Given the description of an element on the screen output the (x, y) to click on. 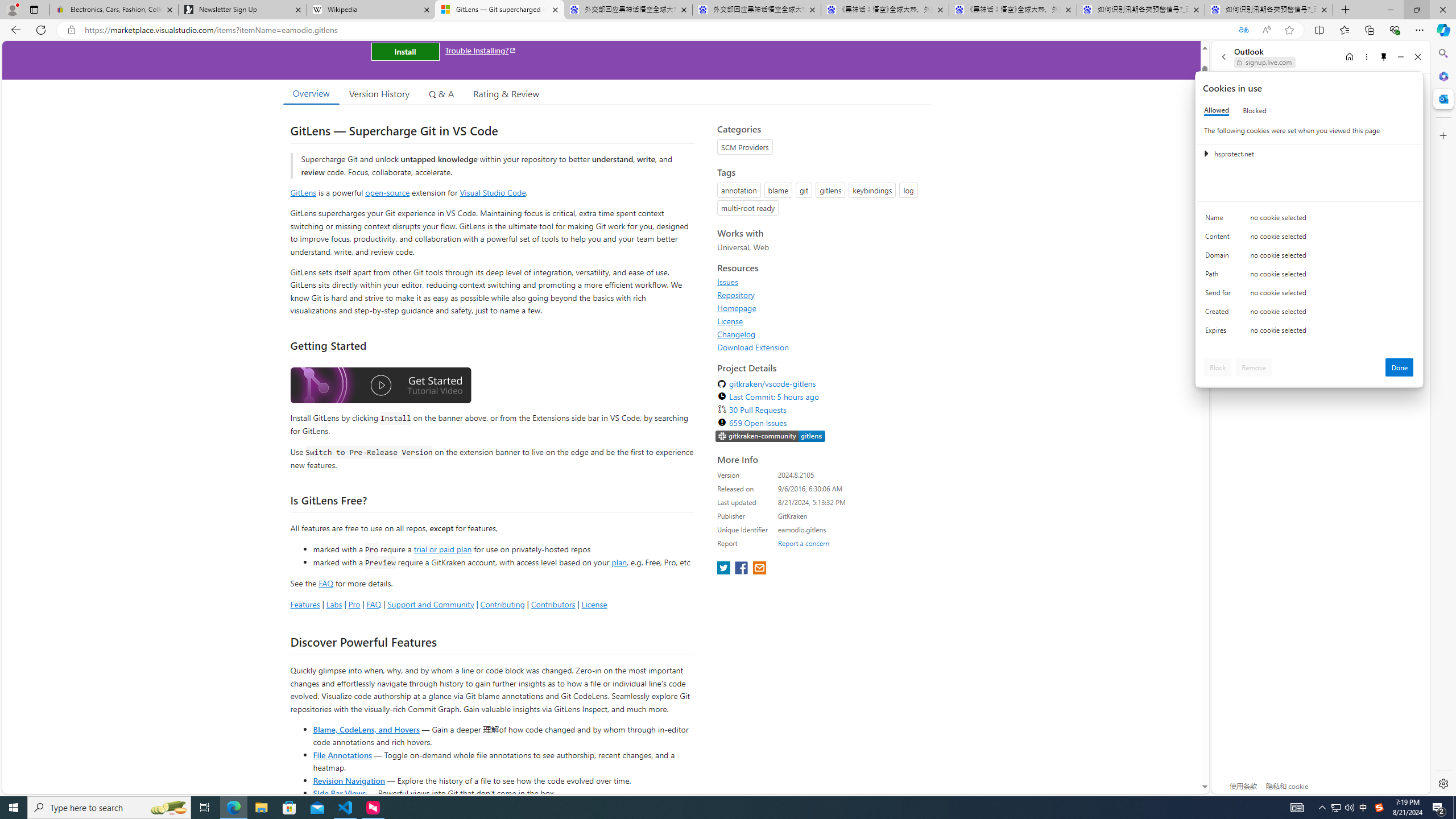
Remove (1253, 367)
Created (1219, 313)
Name (1219, 220)
no cookie selected (1331, 332)
Send for (1219, 295)
Class: c0153 c0157 (1309, 332)
Block (1217, 367)
Path (1219, 276)
Expires (1219, 332)
Done (1399, 367)
Blocked (1255, 110)
Allowed (1216, 110)
Class: c0153 c0157 c0154 (1309, 220)
Content (1219, 239)
Domain (1219, 257)
